Given the description of an element on the screen output the (x, y) to click on. 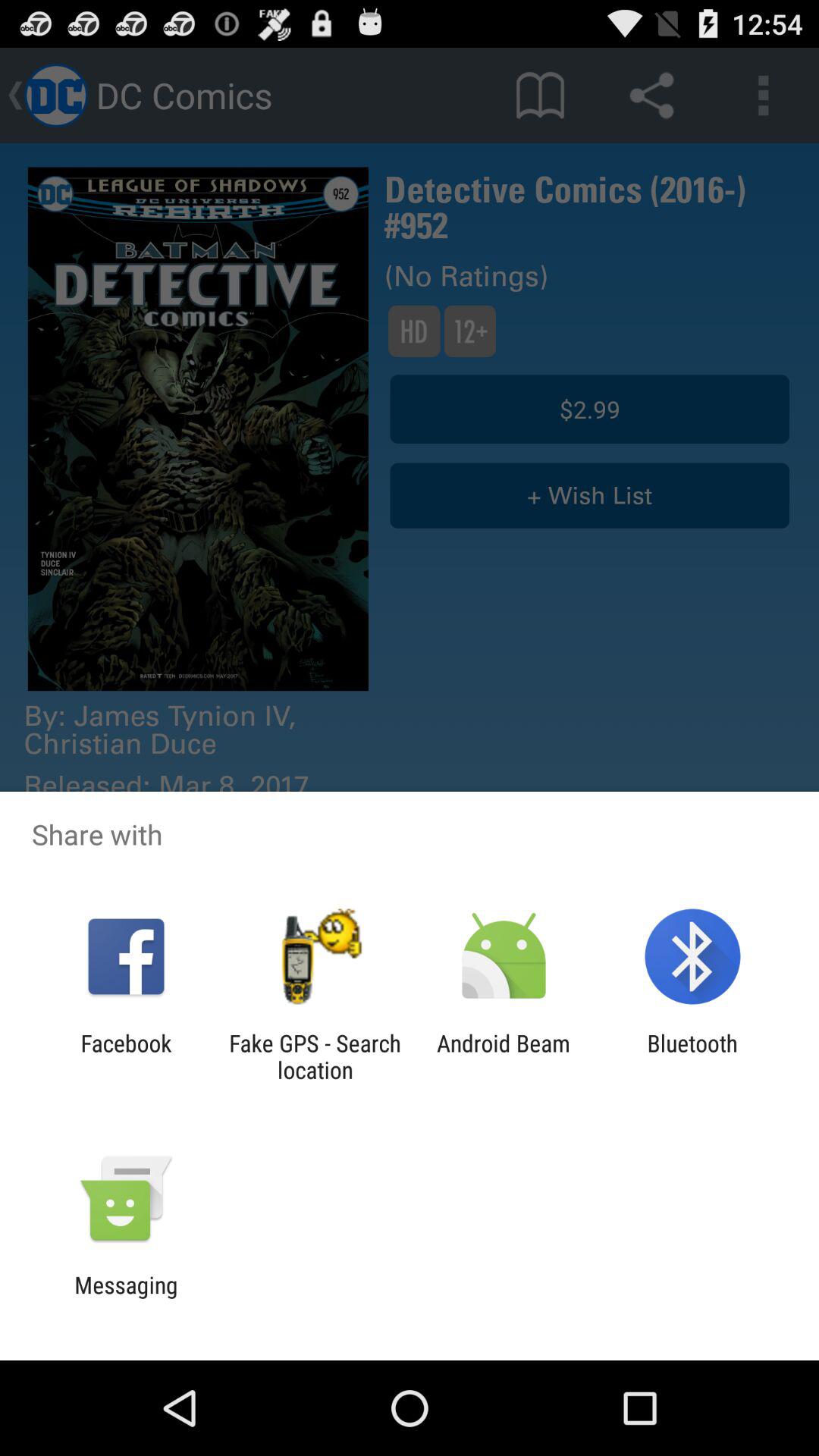
turn on icon to the right of facebook item (314, 1056)
